Given the description of an element on the screen output the (x, y) to click on. 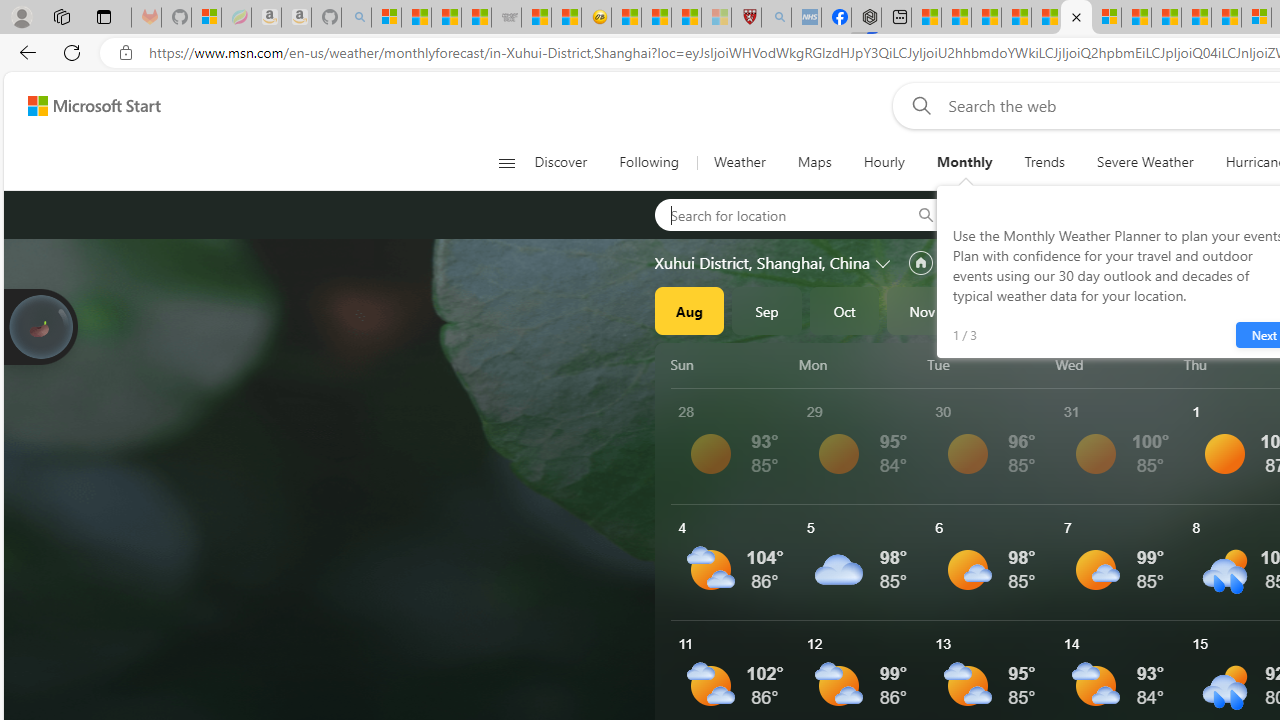
Remove location (1149, 214)
Feb (1155, 310)
Tue (987, 363)
Web search (917, 105)
Sun (731, 363)
